Given the description of an element on the screen output the (x, y) to click on. 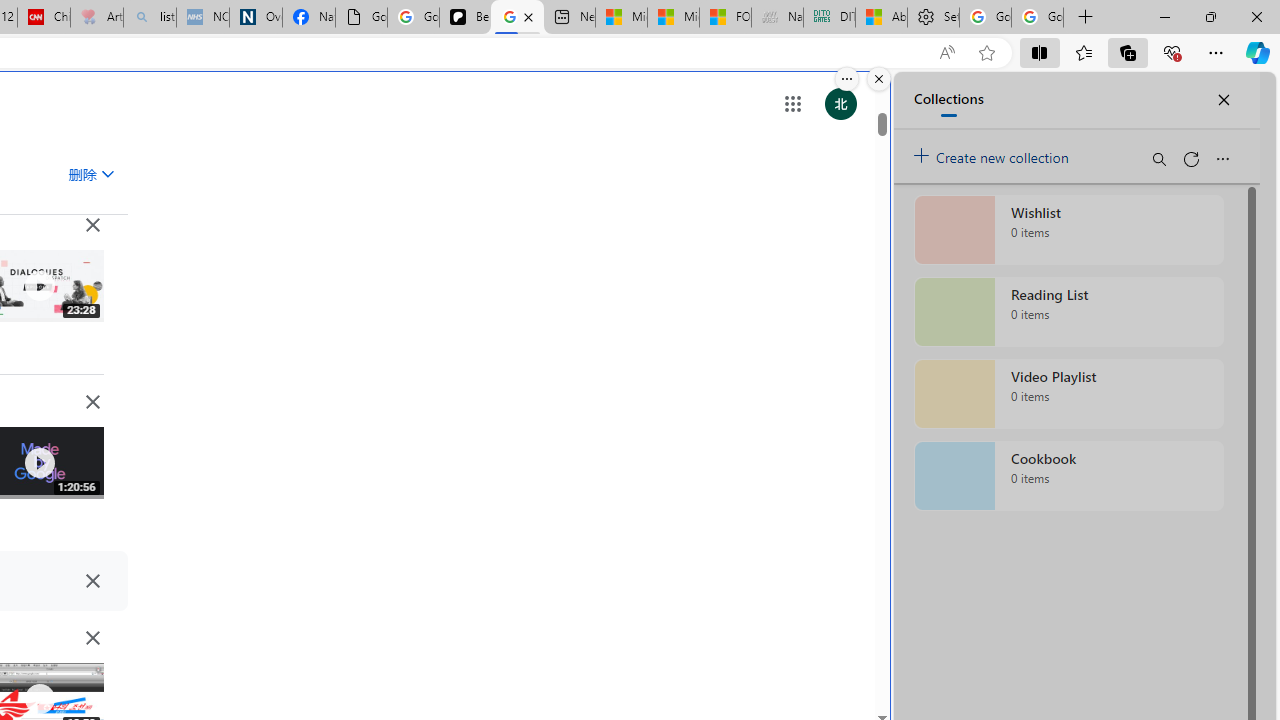
Arthritis: Ask Health Professionals - Sleeping (96, 17)
Close split screen. (878, 79)
Class: asE2Ub NMm5M (107, 173)
Class: IVR0f NMm5M (38, 699)
FOX News - MSN (725, 17)
